Given the description of an element on the screen output the (x, y) to click on. 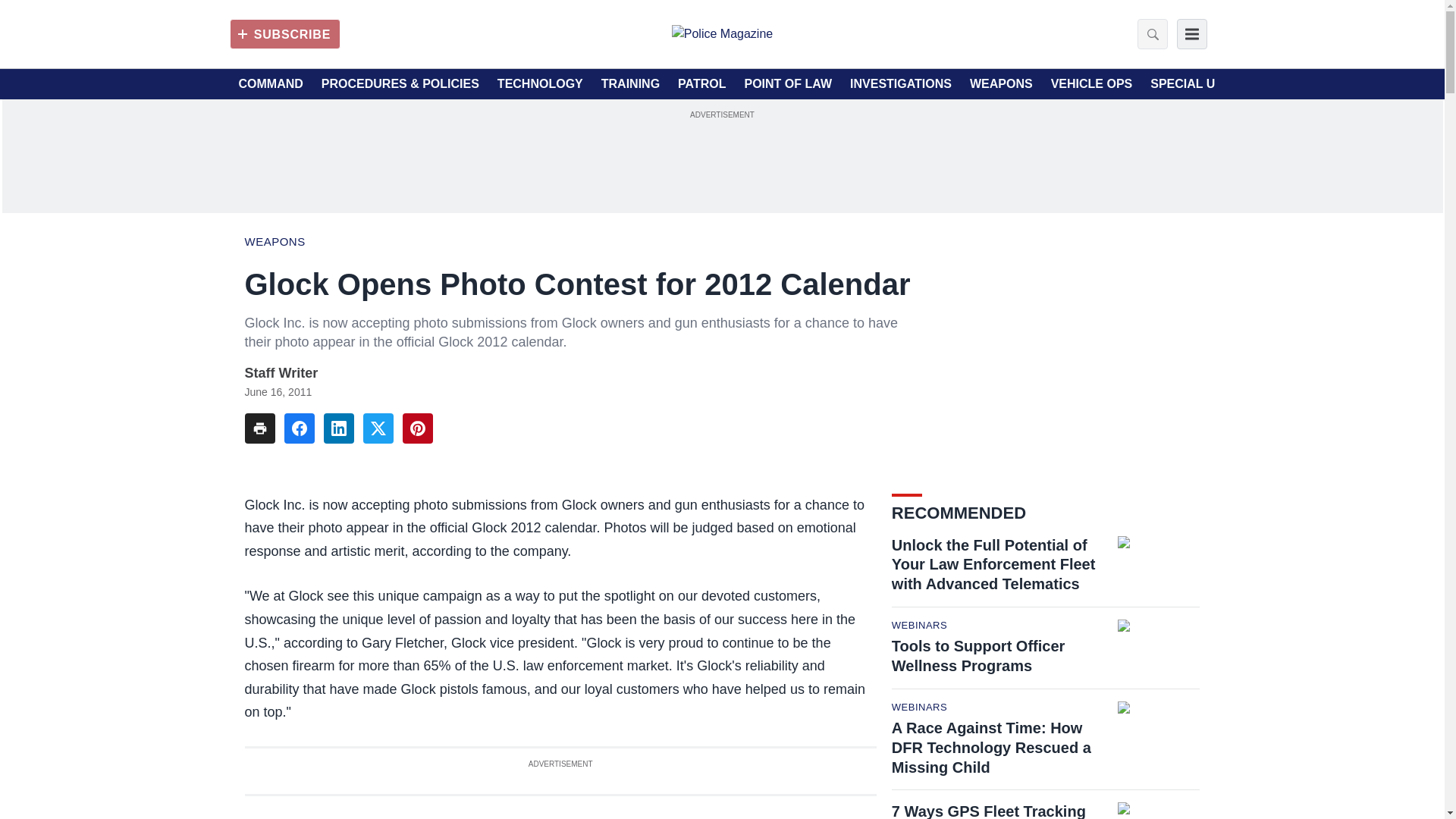
TECHNOLOGY (540, 84)
PATROL (701, 84)
INVESTIGATIONS (901, 84)
Share To facebook (298, 428)
POINT OF LAW (787, 84)
Webinars (919, 707)
Share To linkedin (338, 428)
SUBSCRIBE (284, 33)
Share To twitter (377, 428)
SPECIAL UNITS (1196, 84)
